Given the description of an element on the screen output the (x, y) to click on. 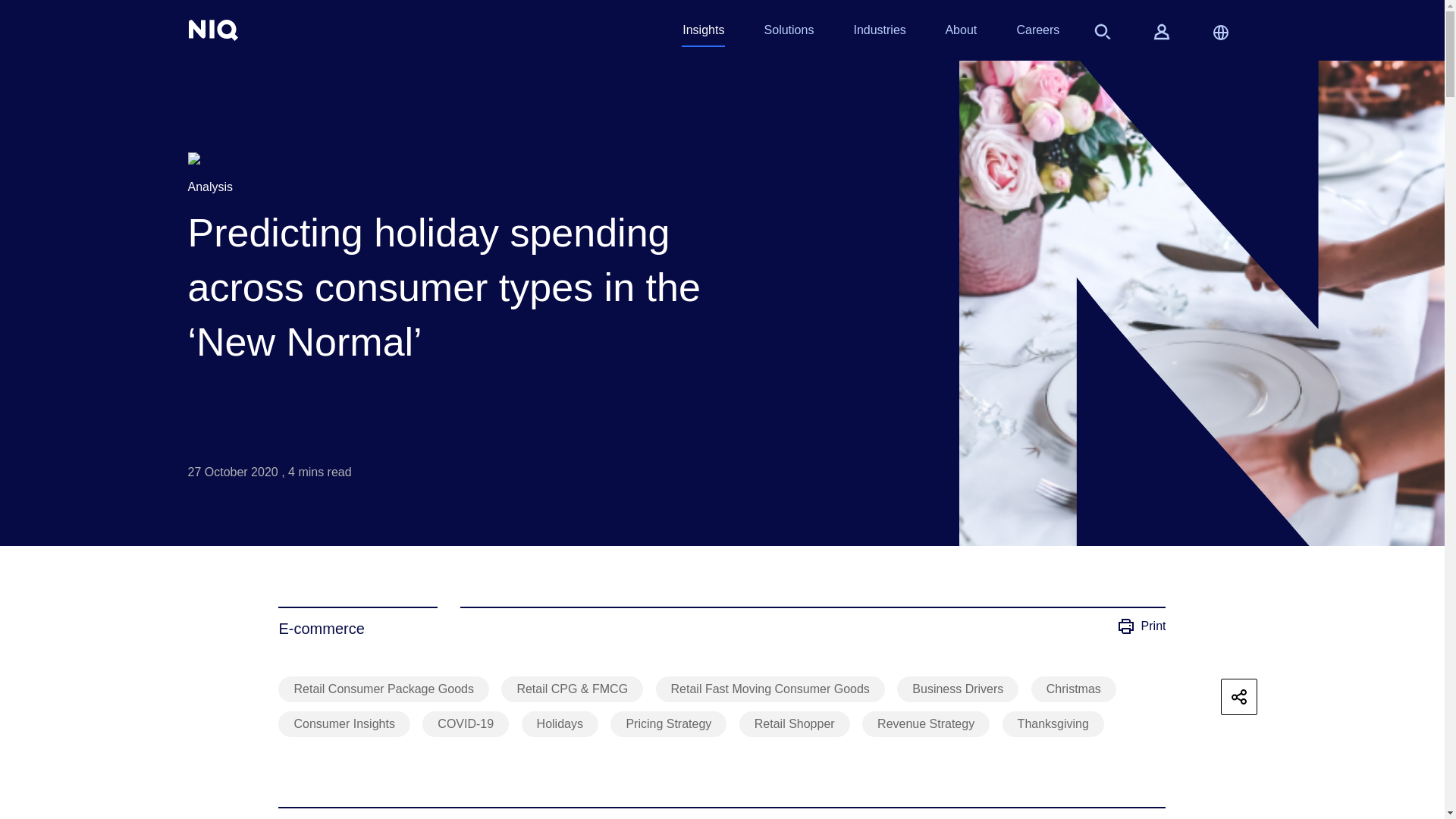
Solutions (788, 33)
Solutions (788, 33)
Insights (703, 33)
Insights (703, 33)
Industries (878, 33)
